Given the description of an element on the screen output the (x, y) to click on. 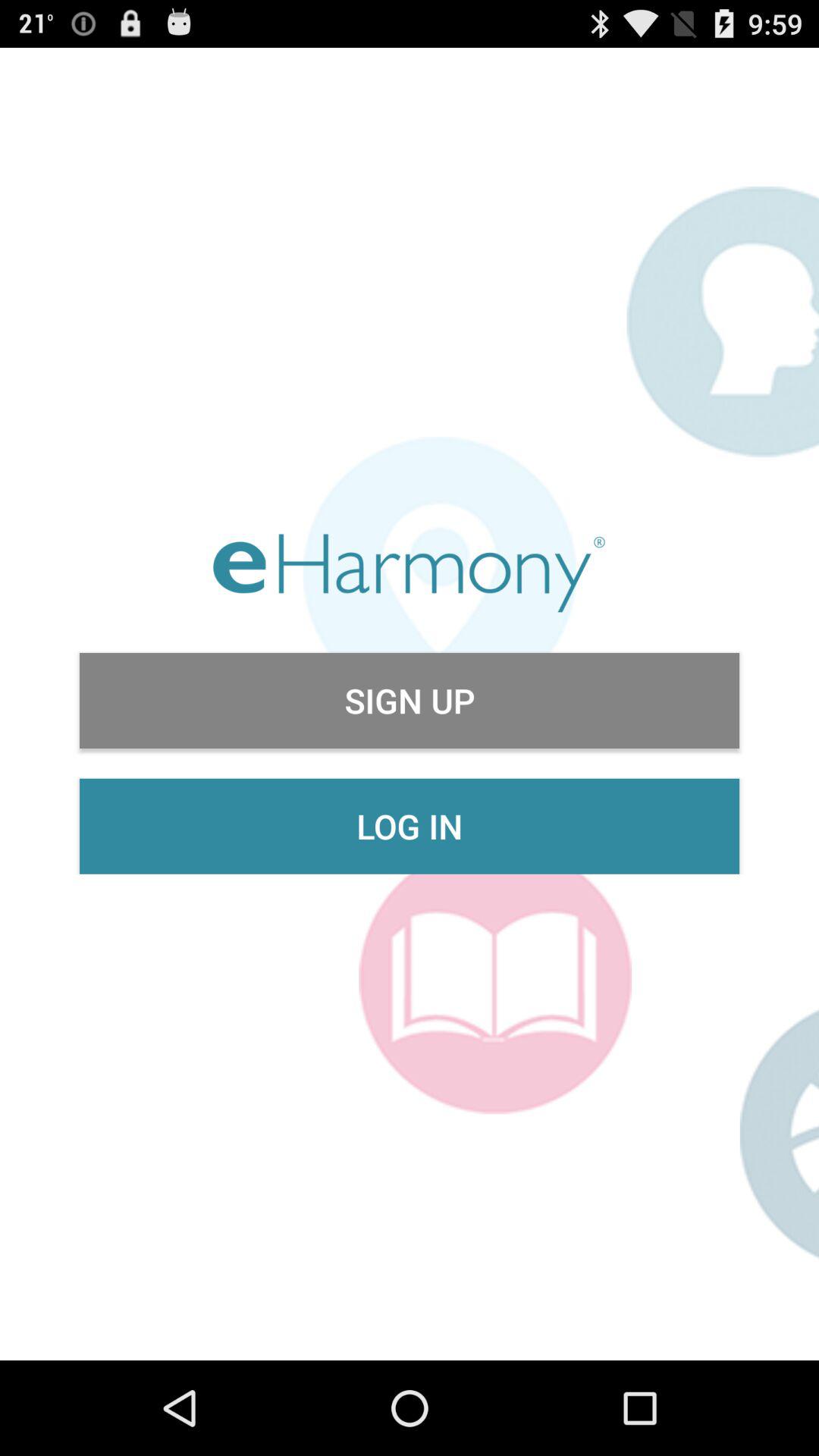
tap sign up item (409, 700)
